Given the description of an element on the screen output the (x, y) to click on. 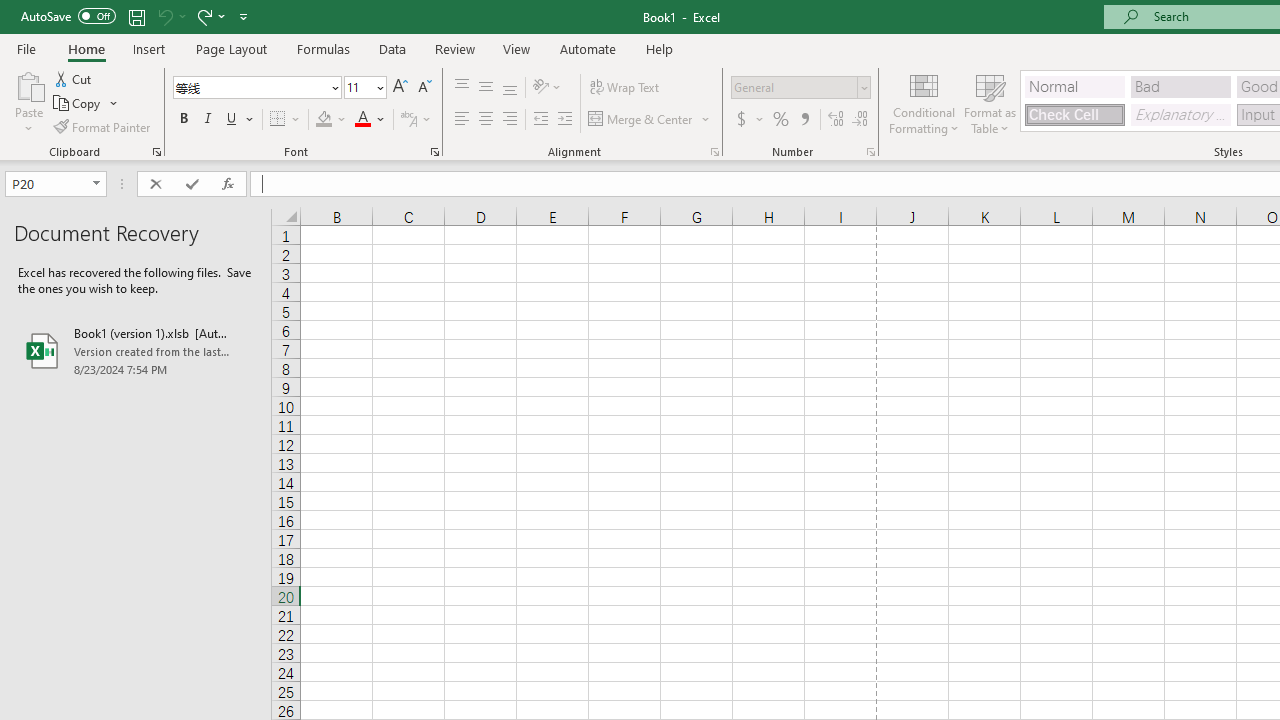
Fill Color RGB(255, 255, 0) (324, 119)
Font Size (365, 87)
Font (256, 87)
Show Phonetic Field (416, 119)
More Options (760, 119)
